Given the description of an element on the screen output the (x, y) to click on. 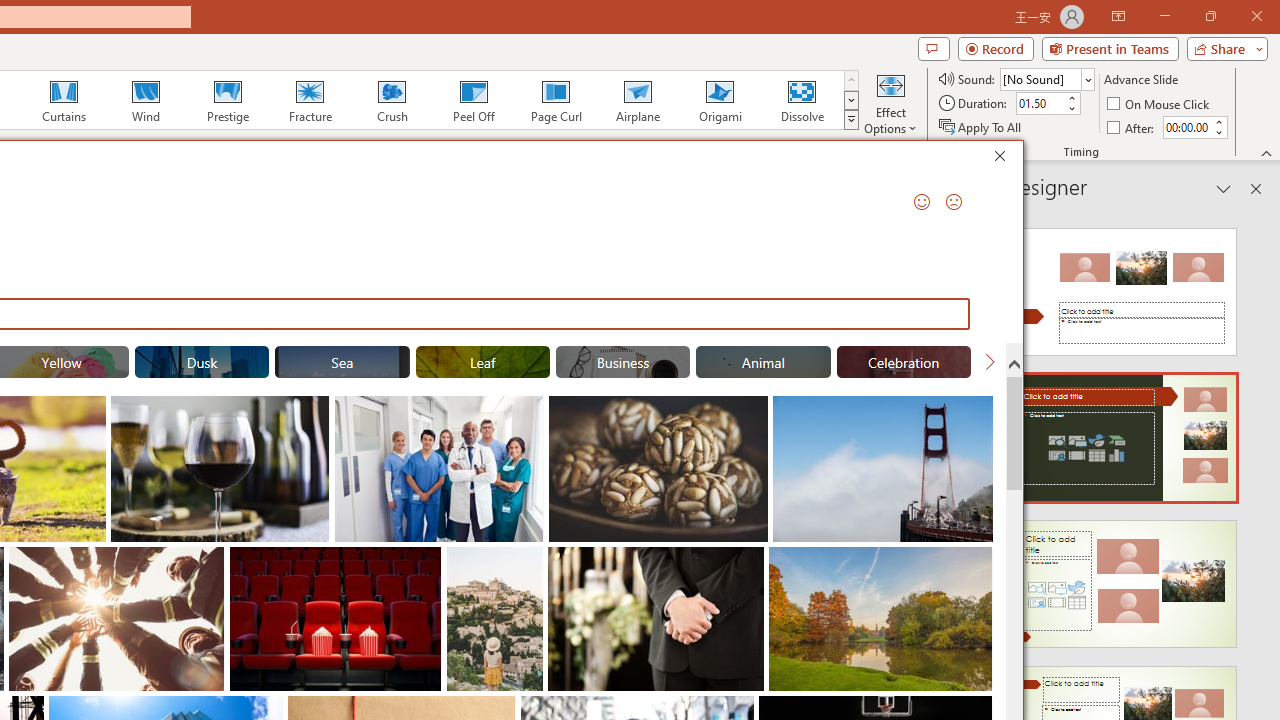
Fracture (309, 100)
Prestige (227, 100)
Page Curl (555, 100)
Origami (719, 100)
Send a Smile (922, 201)
Dissolve (802, 100)
